Given the description of an element on the screen output the (x, y) to click on. 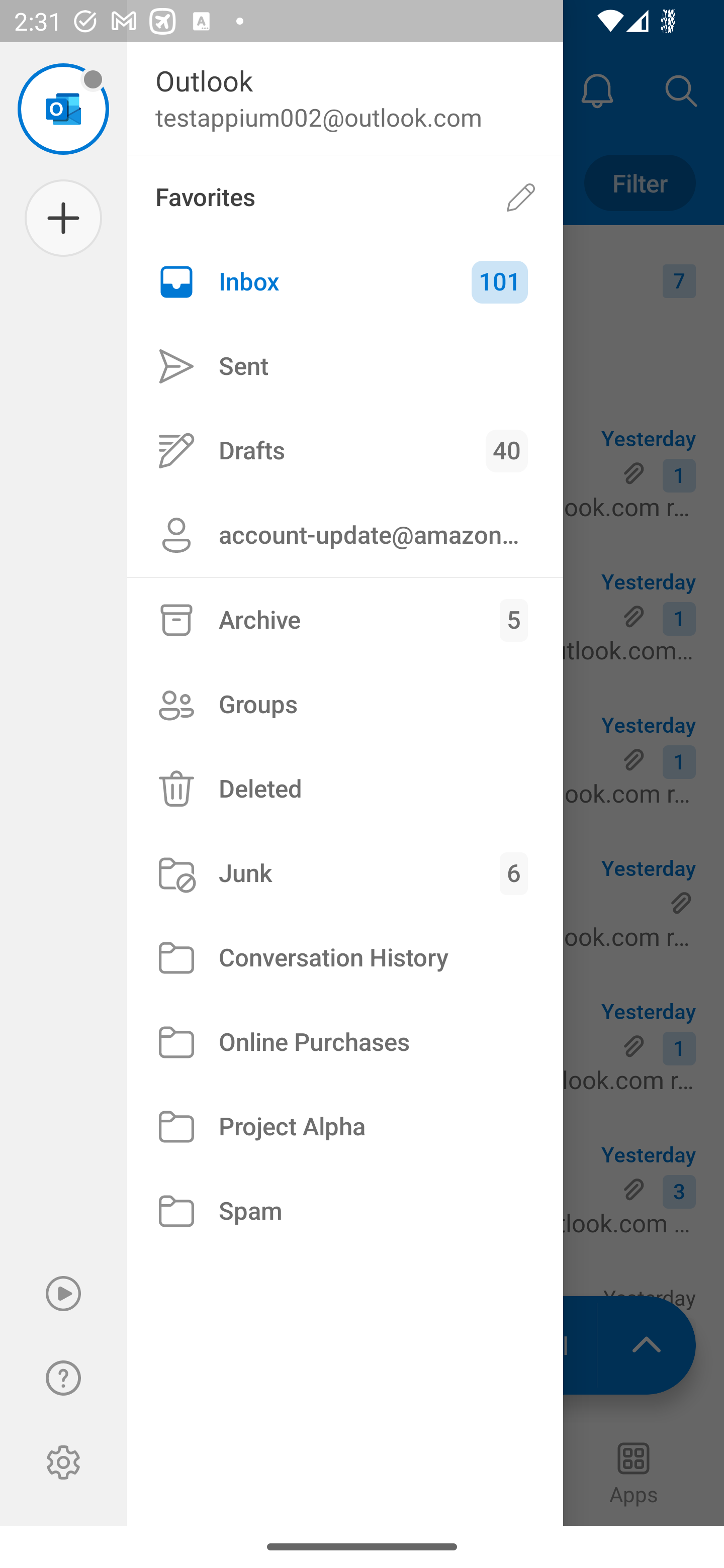
Edit favorites (520, 197)
Add account (63, 217)
Inbox Inbox, 101 unread emails,Selected (345, 281)
Sent (345, 366)
Drafts Drafts, 40 unread emails (345, 450)
account-update@amazon.com (345, 534)
Archive Archive, 2 of 9, level 1, 5 unread emails (345, 619)
Groups Groups, 3 of 9, level 1 (345, 703)
Deleted Deleted, 4 of 9, level 1 (345, 788)
Junk Junk, 5 of 9, level 1, 6 unread emails (345, 873)
Online Purchases Online Purchases, 7 of 9, level 1 (345, 1042)
Project Alpha Project Alpha, 8 of 9, level 1 (345, 1127)
Spam Spam, 9 of 9, level 1 (345, 1210)
Play My Emails (62, 1293)
Help (62, 1377)
Settings (62, 1462)
